Given the description of an element on the screen output the (x, y) to click on. 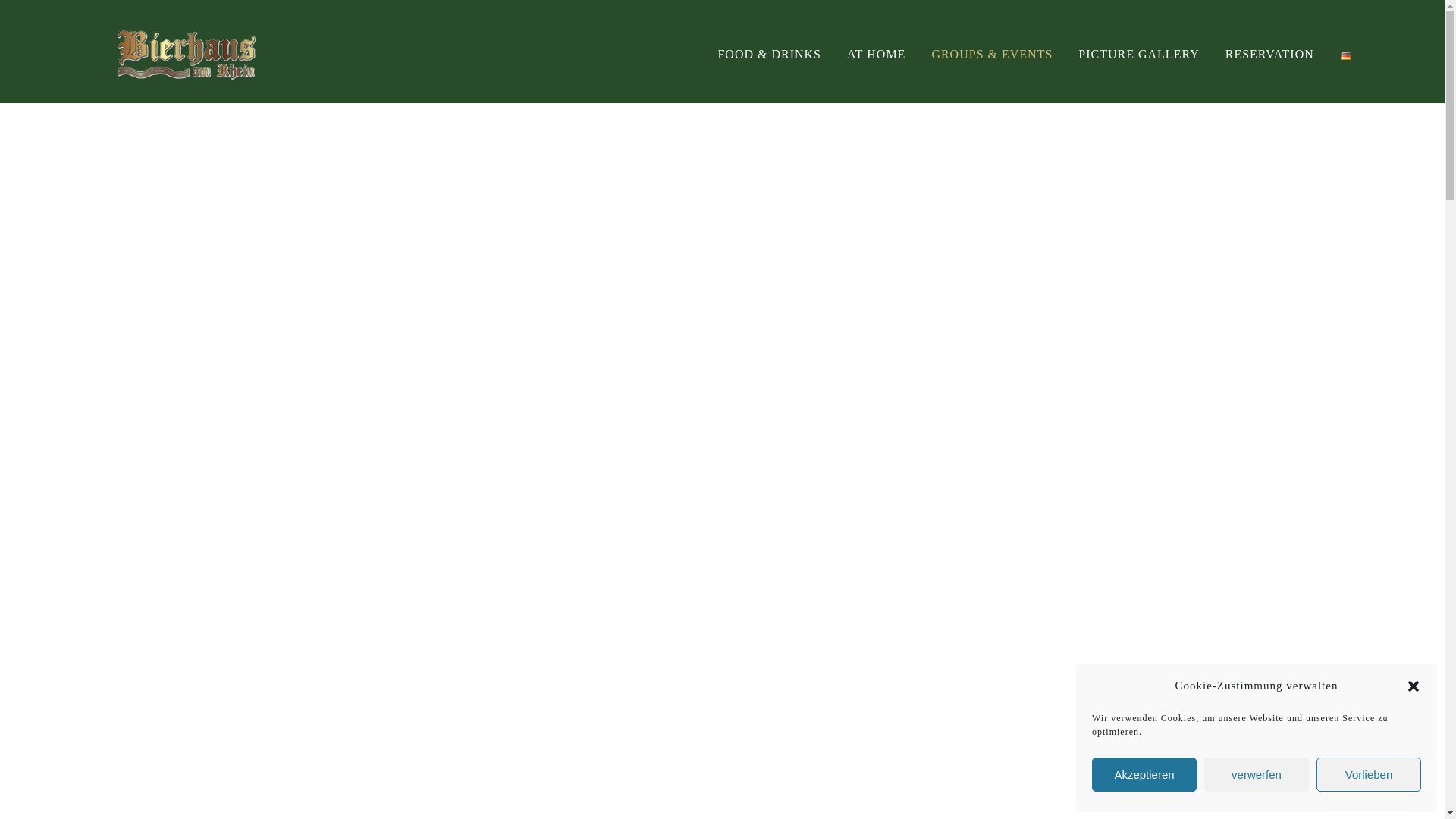
Vorlieben (1368, 774)
verwerfen (1256, 774)
RESERVATION (1269, 53)
PICTURE GALLERY (1138, 53)
Akzeptieren (1144, 774)
